Given the description of an element on the screen output the (x, y) to click on. 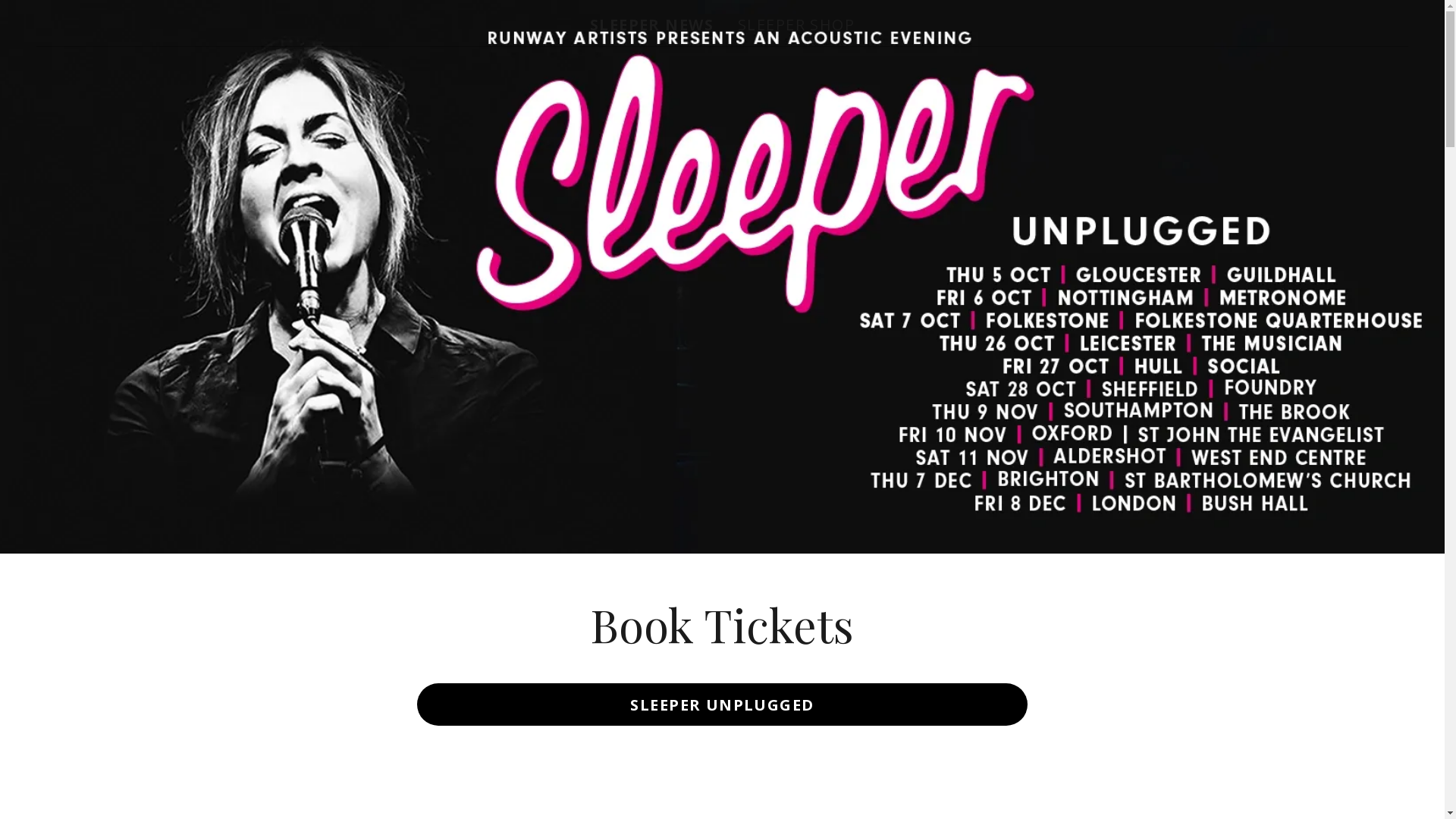
SLEEPER NEWS Element type: text (651, 24)
SLEEPER UNPLUGGED Element type: text (722, 704)
SLEEPER SHOP Element type: text (796, 24)
